Given the description of an element on the screen output the (x, y) to click on. 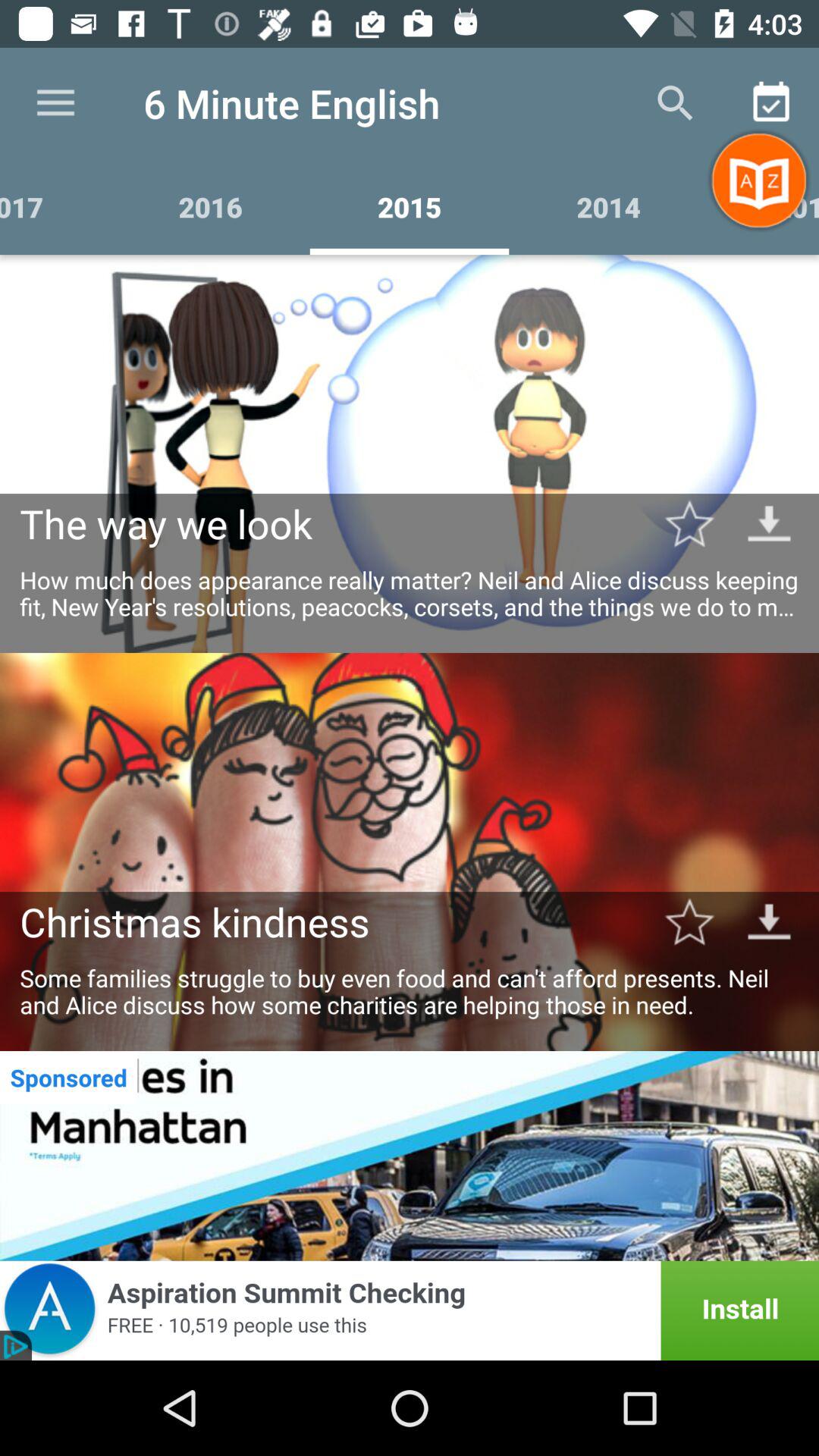
open advertisement (409, 1310)
